Given the description of an element on the screen output the (x, y) to click on. 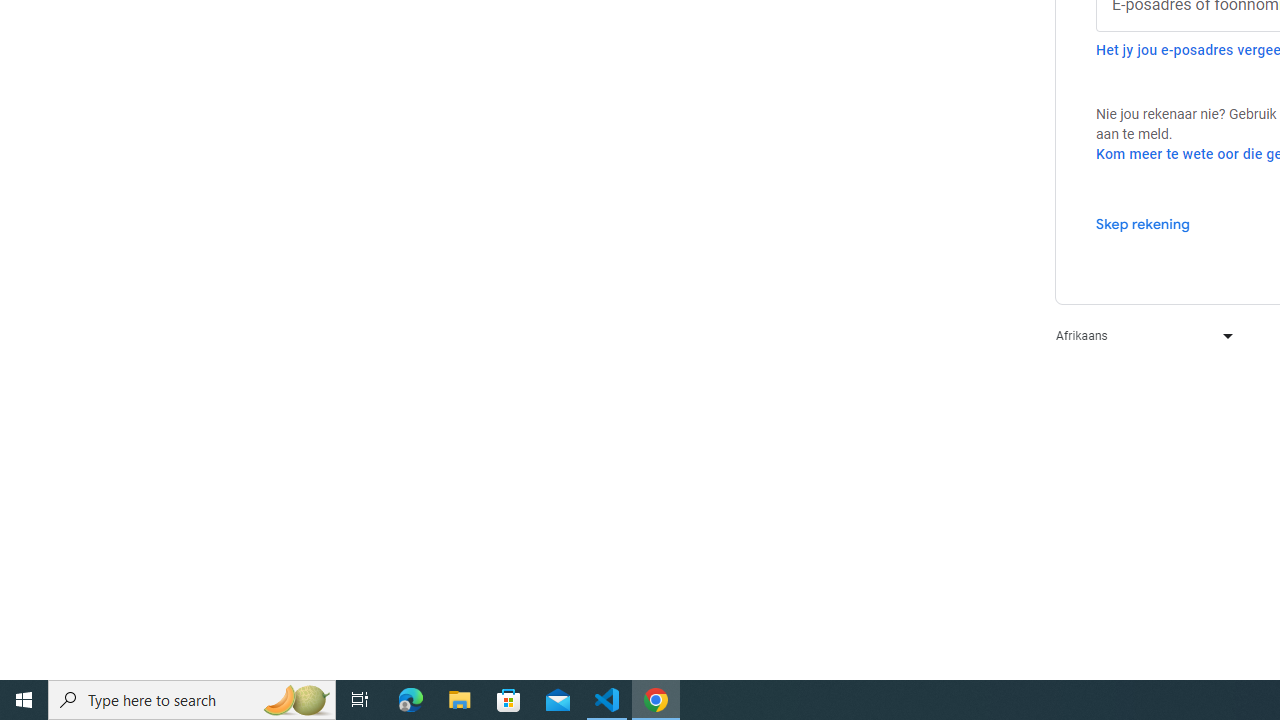
Microsoft Store (509, 699)
Type here to search (191, 699)
File Explorer (460, 699)
Skep rekening (1142, 223)
Task View (359, 699)
Microsoft Edge (411, 699)
Visual Studio Code - 1 running window (607, 699)
Search highlights icon opens search home window (295, 699)
Start (24, 699)
Google Chrome - 1 running window (656, 699)
Afrikaans (1139, 335)
